Given the description of an element on the screen output the (x, y) to click on. 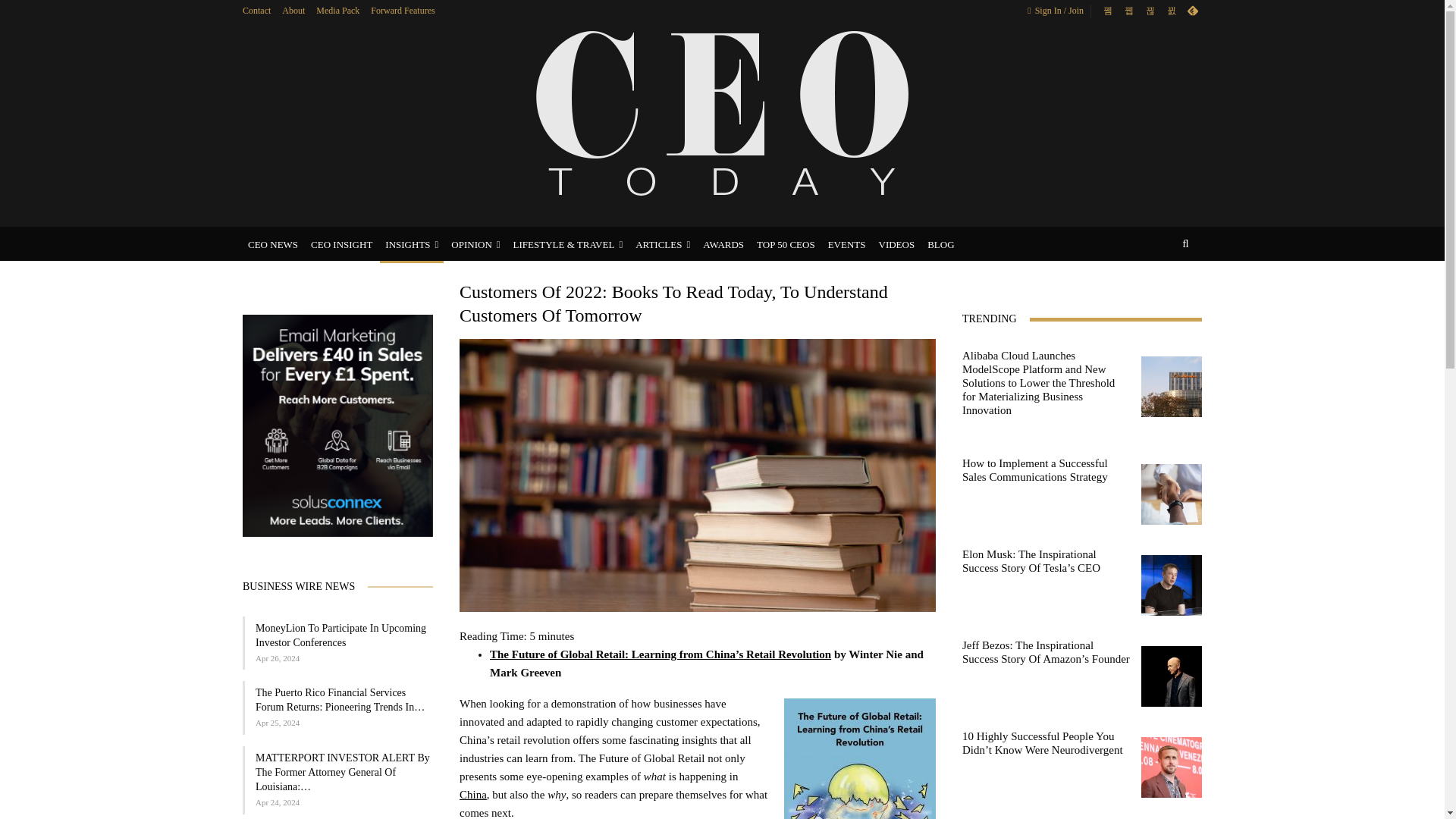
OPINION (475, 244)
Forward Features (402, 9)
Media Pack (337, 9)
CEO INSIGHT (341, 244)
About (293, 9)
Contact (256, 9)
INSIGHTS (412, 244)
CEO NEWS (272, 244)
